Given the description of an element on the screen output the (x, y) to click on. 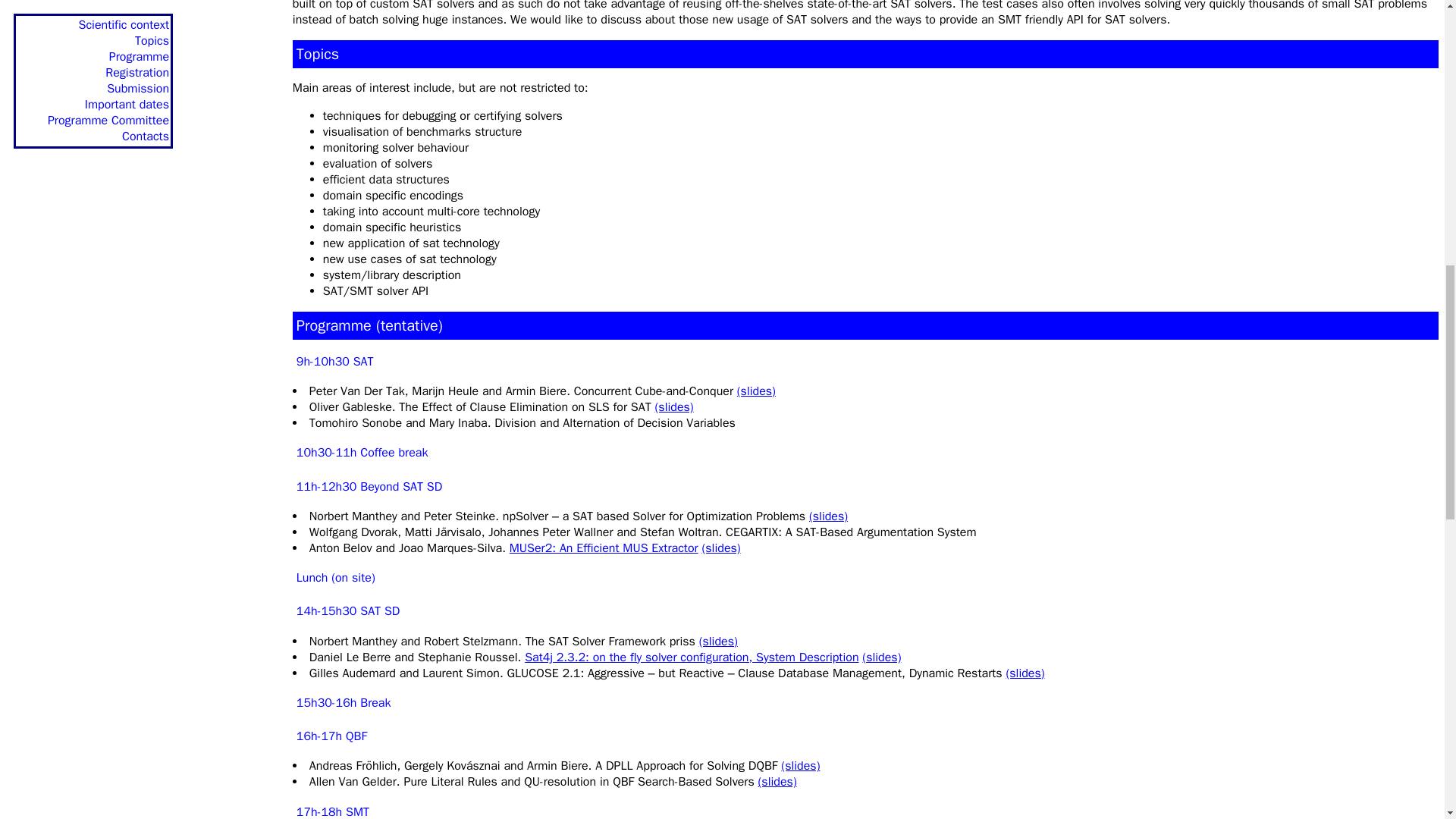
Topics (318, 54)
Programme (334, 325)
MUSer2: An Efficient MUS Extractor (603, 548)
